Given the description of an element on the screen output the (x, y) to click on. 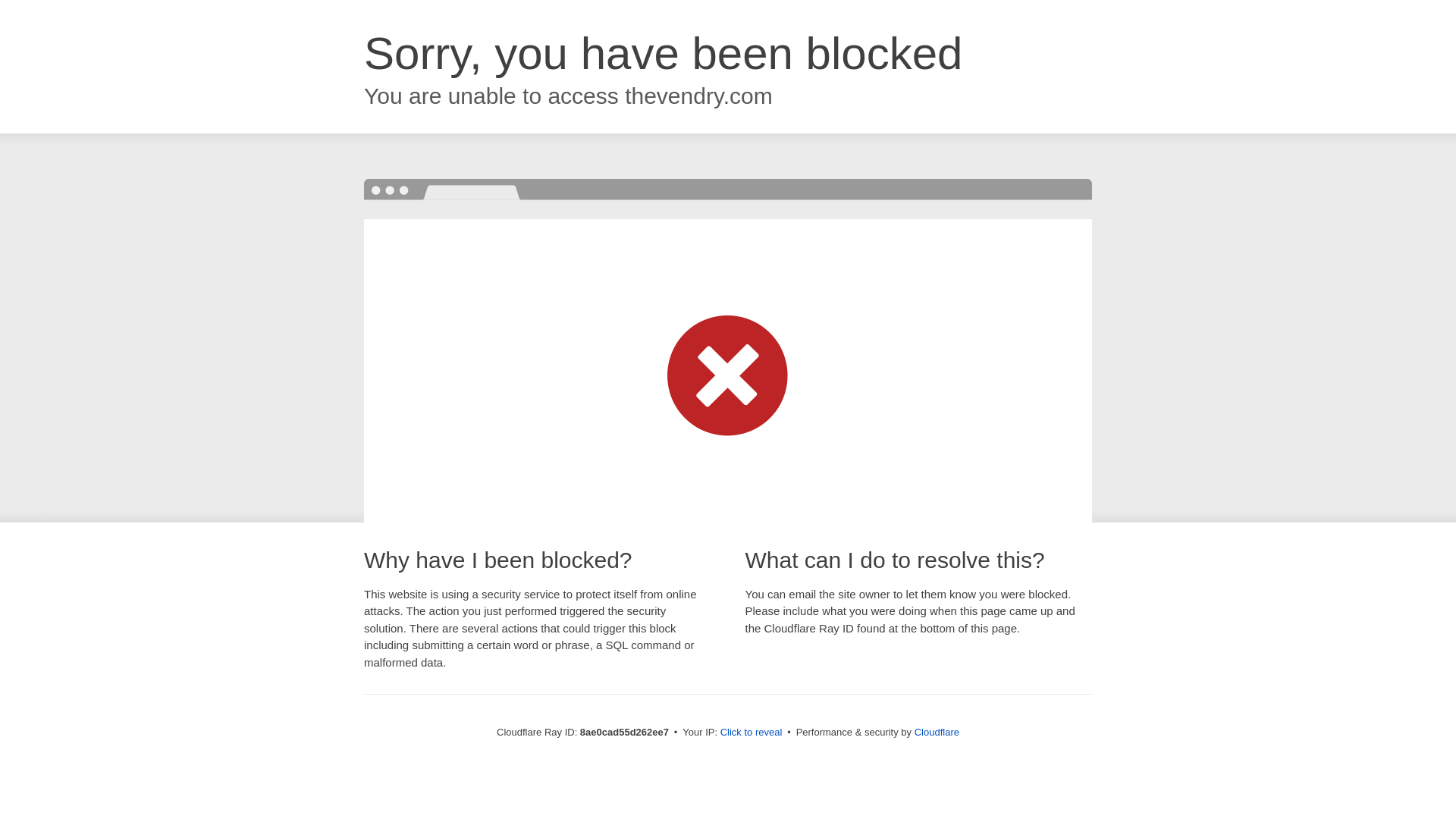
Cloudflare (936, 731)
Click to reveal (751, 732)
